Given the description of an element on the screen output the (x, y) to click on. 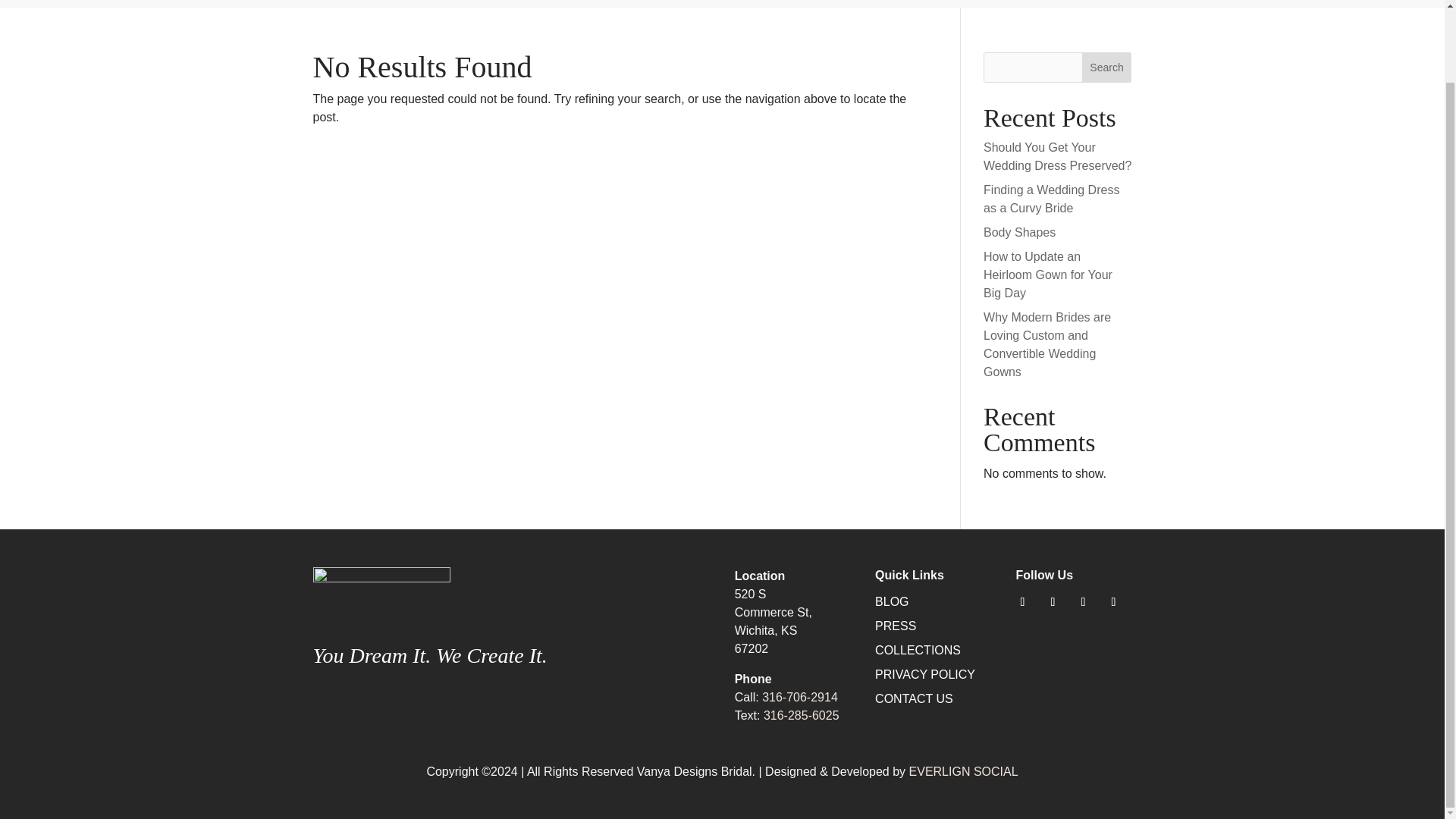
Follow on TikTok (1112, 601)
Follow on Instagram (1021, 601)
316-706-2914 (799, 697)
How to Update an Heirloom Gown for Your Big Day (1048, 274)
Finding a Wedding Dress as a Curvy Bride (1051, 198)
Follow on Facebook (1052, 601)
Search (1106, 67)
316-285-6025 (801, 715)
Body Shapes (1019, 232)
